Given the description of an element on the screen output the (x, y) to click on. 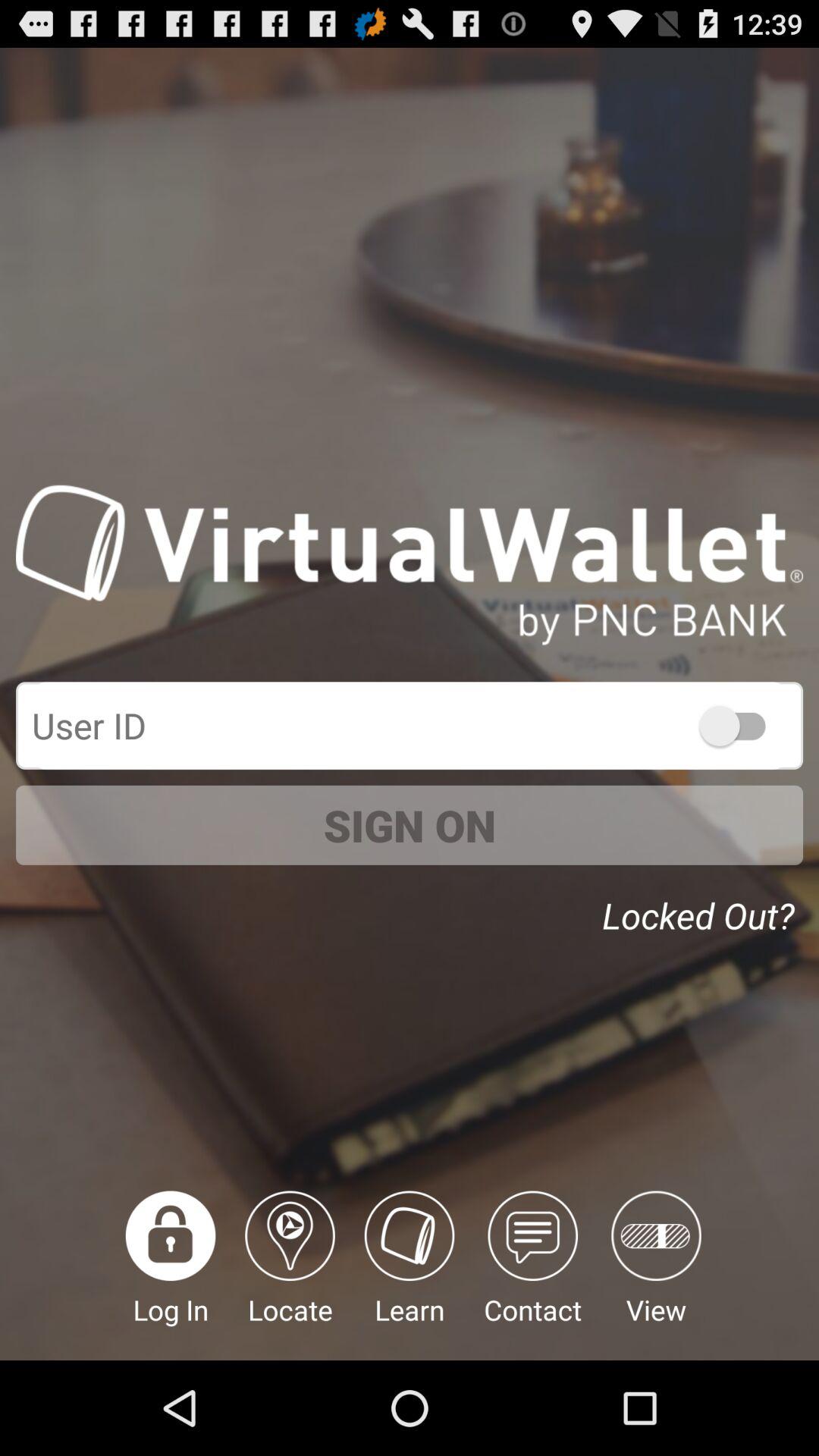
press the icon below sign on item (409, 1275)
